Given the description of an element on the screen output the (x, y) to click on. 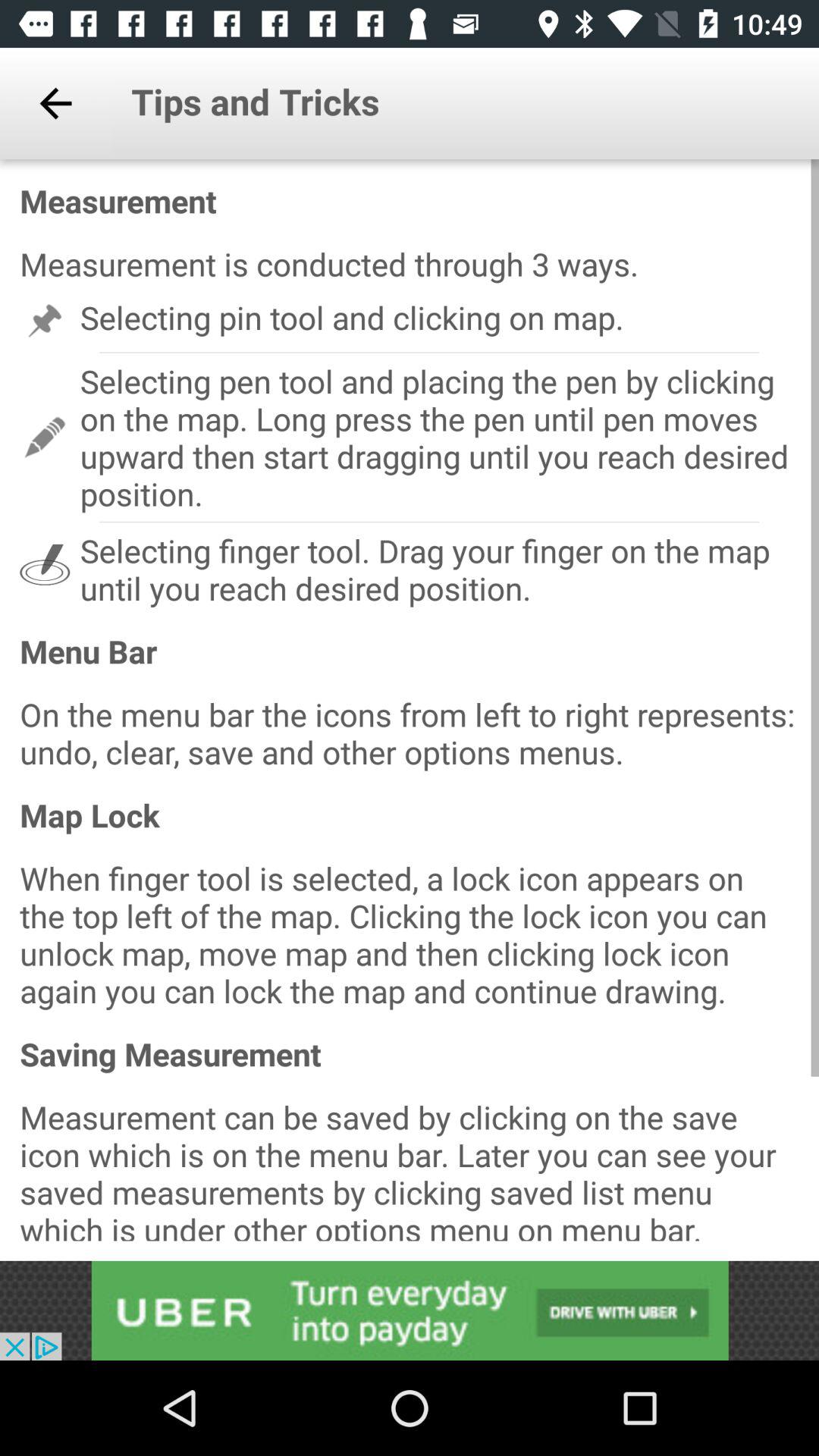
advertisement (409, 1310)
